Given the description of an element on the screen output the (x, y) to click on. 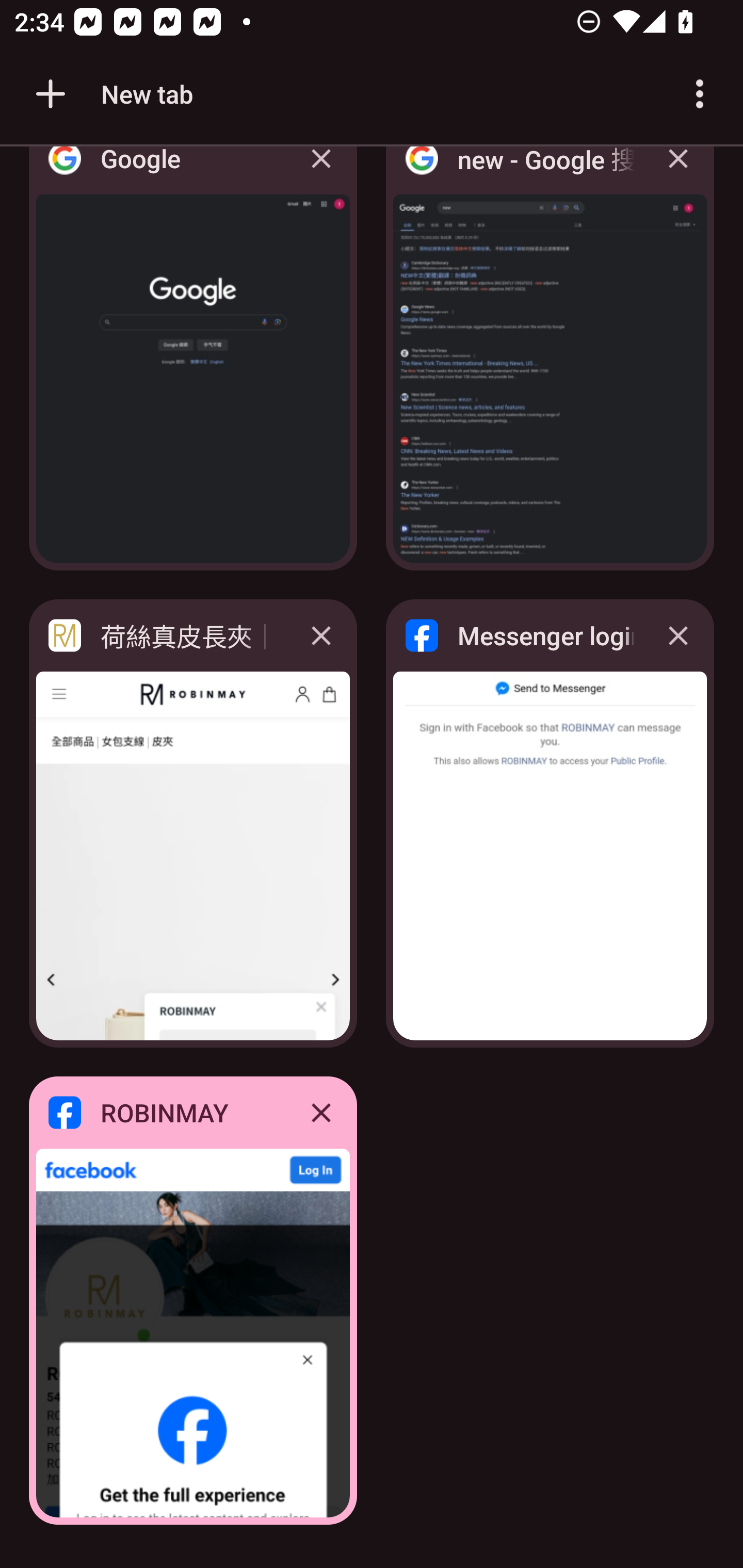
New tab (111, 93)
Customize and control Google Chrome (699, 93)
Google Google, tab Close Google tab (192, 364)
Close Google tab (320, 173)
Close new - Google 搜索 tab (677, 173)
Close 荷絲真皮長夾｜皮夾、配件｜長夾｜ROBINMAY 官方網站 (RM) tab (320, 635)
Close Messenger login tab (677, 635)
ROBINMAY ROBINMAY, tab Close ROBINMAY tab (192, 1300)
Close ROBINMAY tab (320, 1112)
